Given the description of an element on the screen output the (x, y) to click on. 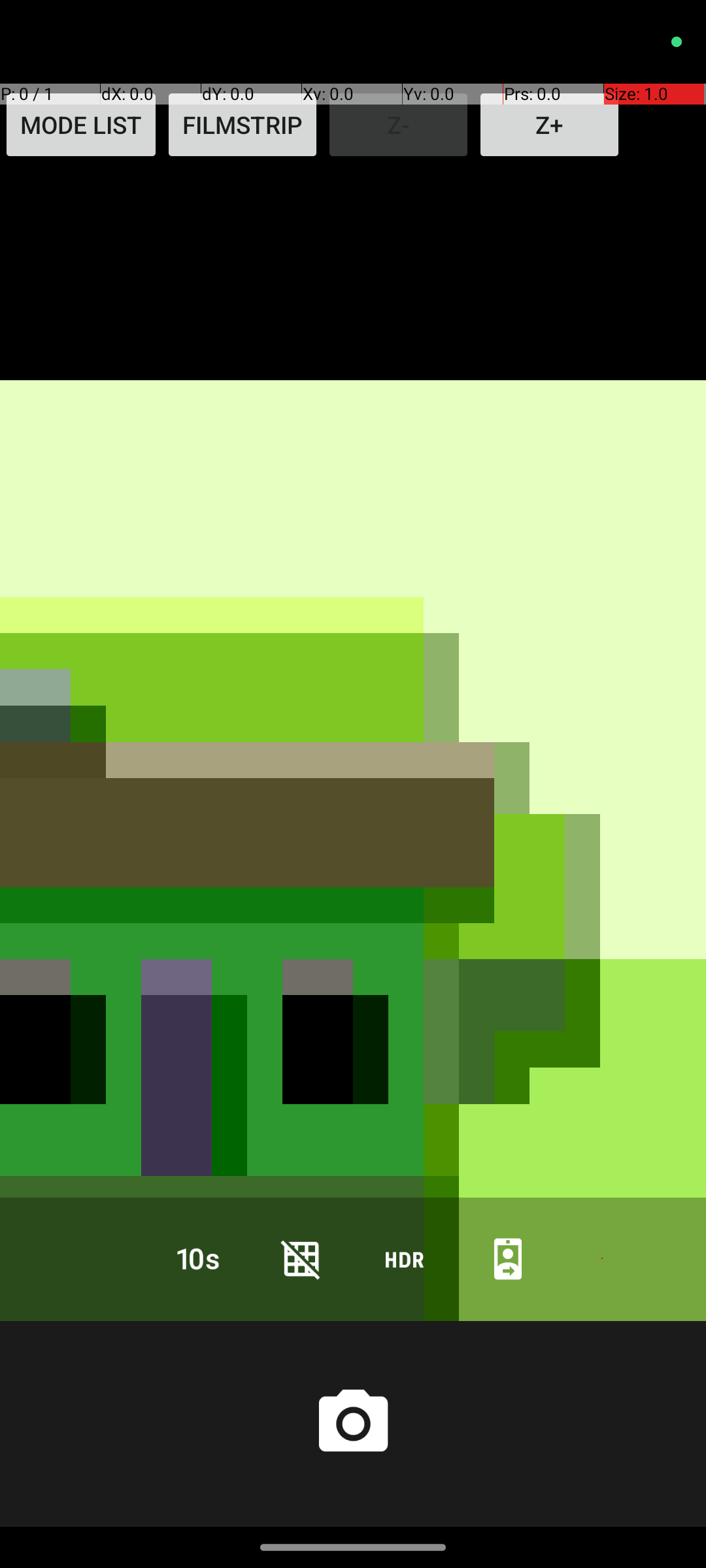
Countdown timer duration is set to 10 seconds Element type: android.widget.ImageButton (197, 1258)
HDR on Element type: android.widget.ImageButton (404, 1258)
